Given the description of an element on the screen output the (x, y) to click on. 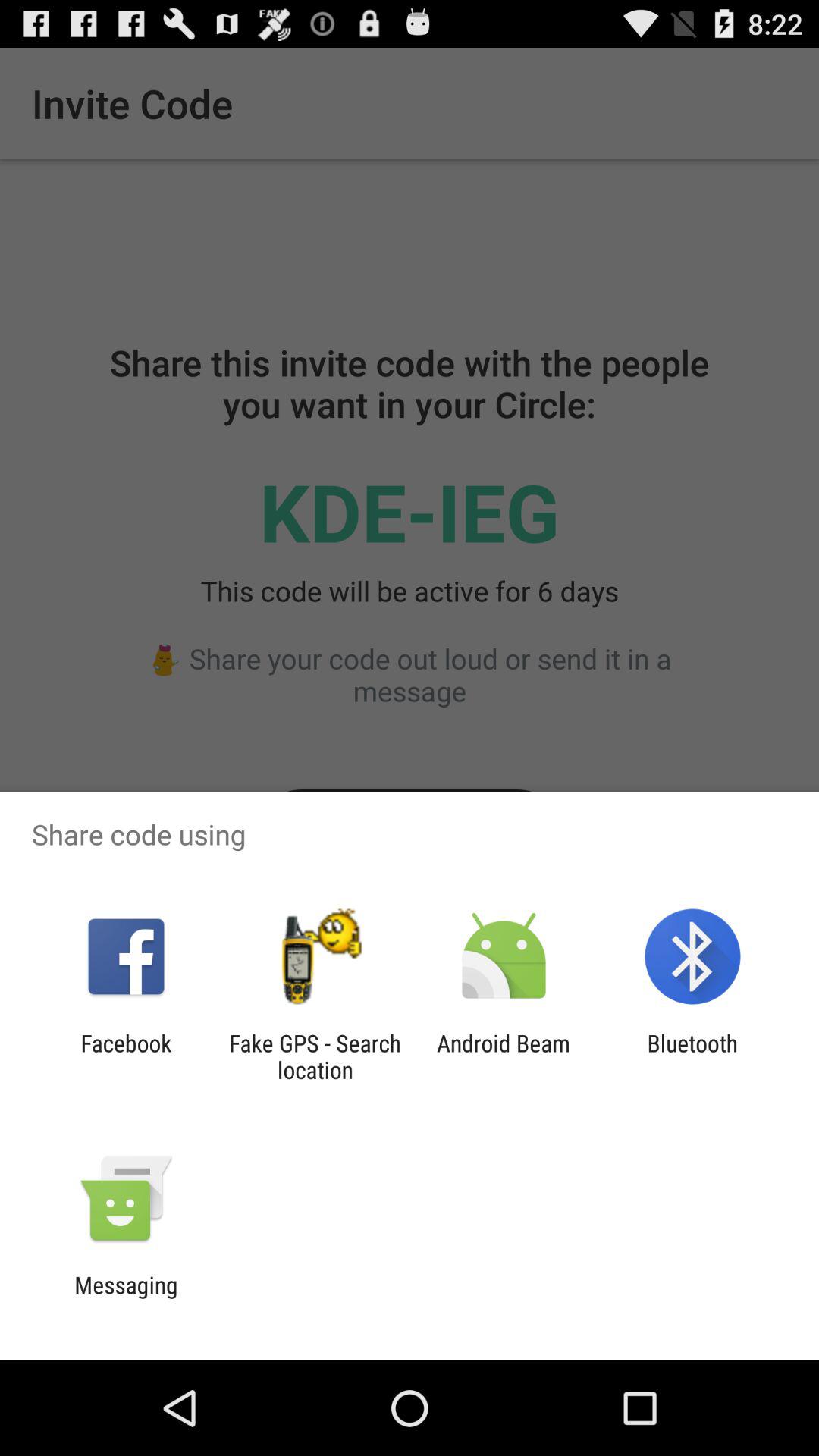
choose the item to the left of the android beam (314, 1056)
